Given the description of an element on the screen output the (x, y) to click on. 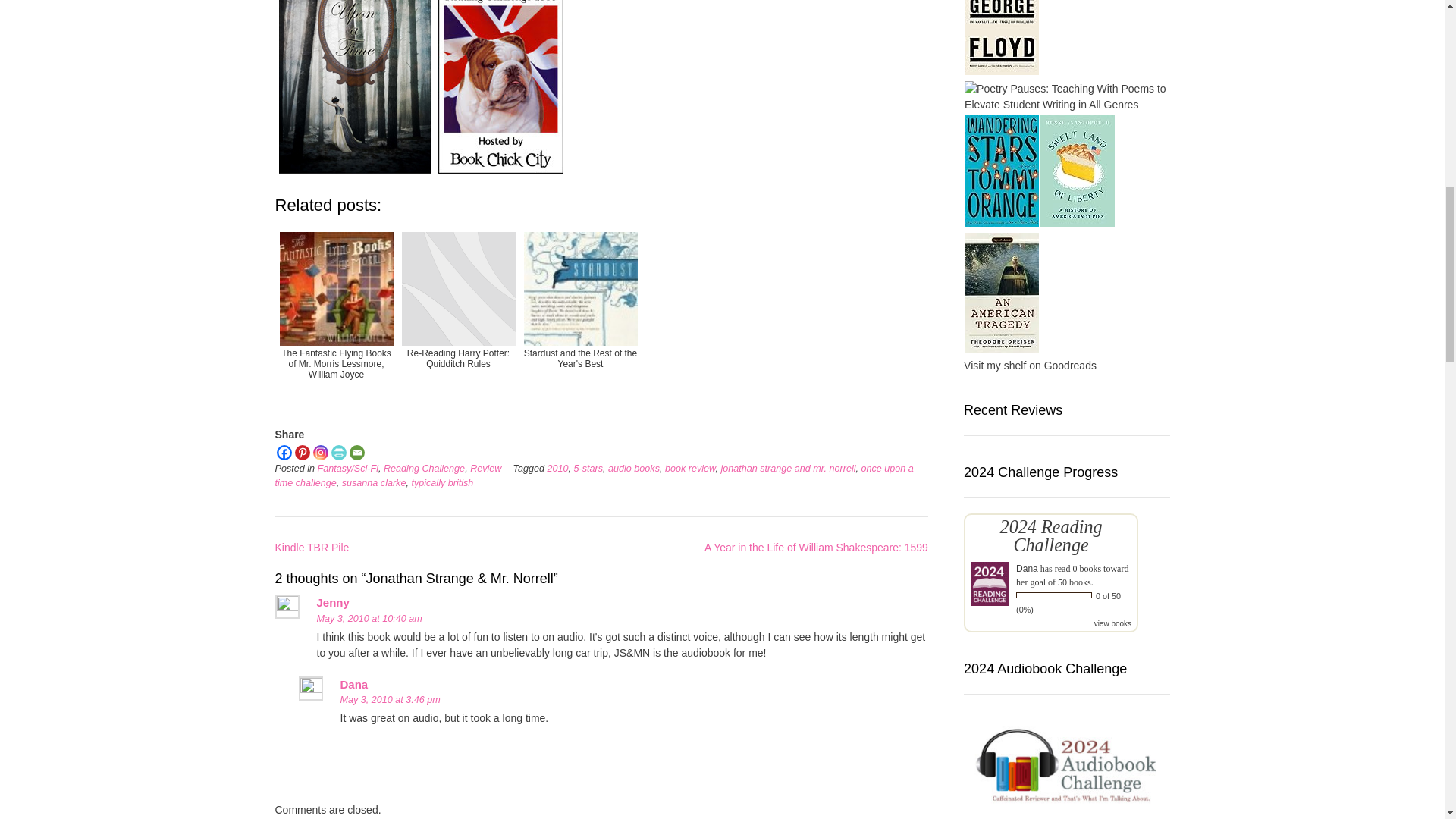
Facebook (283, 452)
book review (690, 468)
5-stars (588, 468)
Instagram (320, 452)
Reading Challenge (424, 468)
PrintFriendly (338, 452)
Review (485, 468)
Pinterest (301, 452)
Email (356, 452)
2010 (558, 468)
audio books (633, 468)
